Given the description of an element on the screen output the (x, y) to click on. 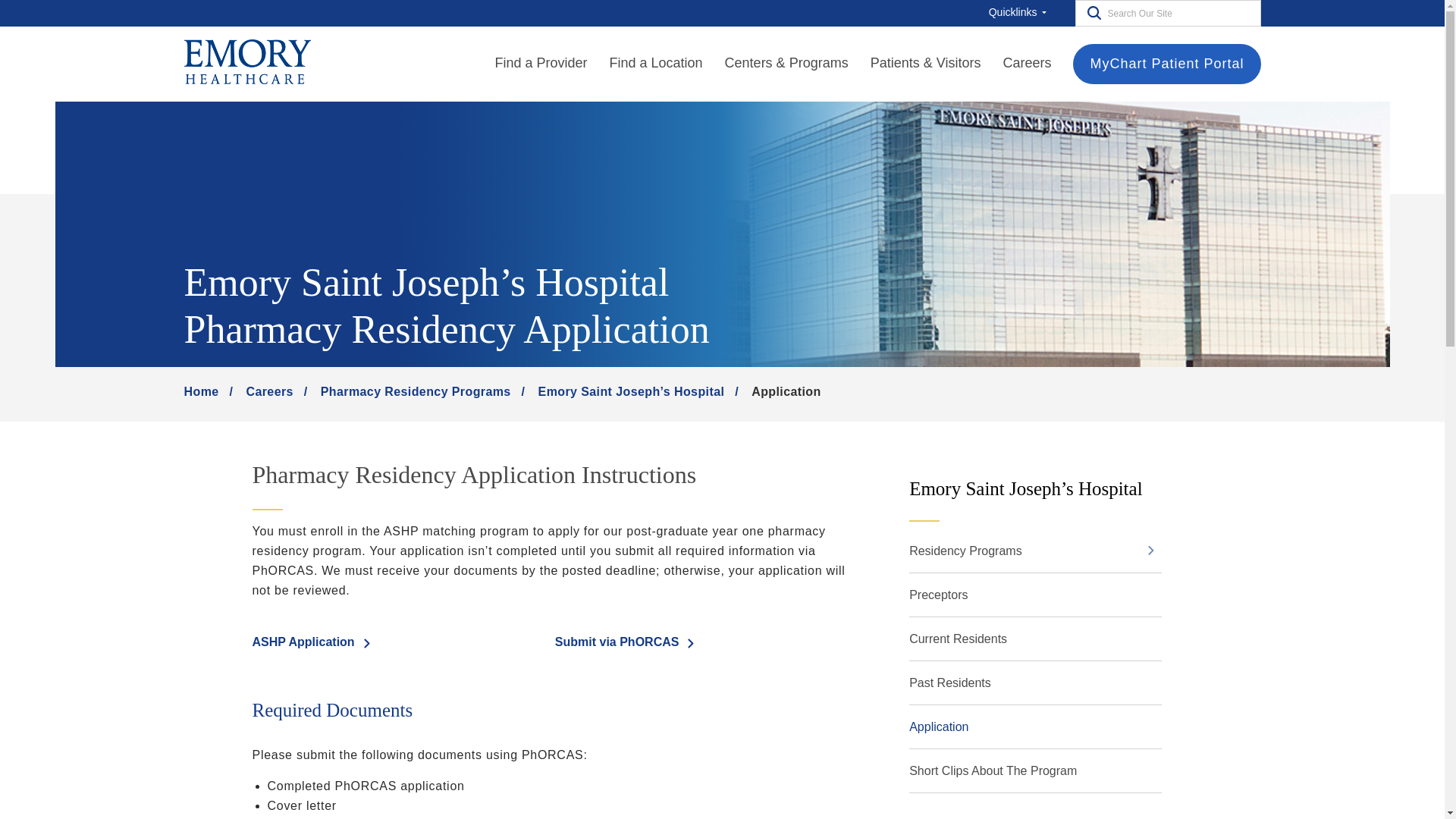
Find a Provider (540, 63)
Find a Location (656, 63)
Careers (1027, 63)
Search (1090, 12)
Quicklinks (1020, 12)
Header Logo (246, 63)
